Given the description of an element on the screen output the (x, y) to click on. 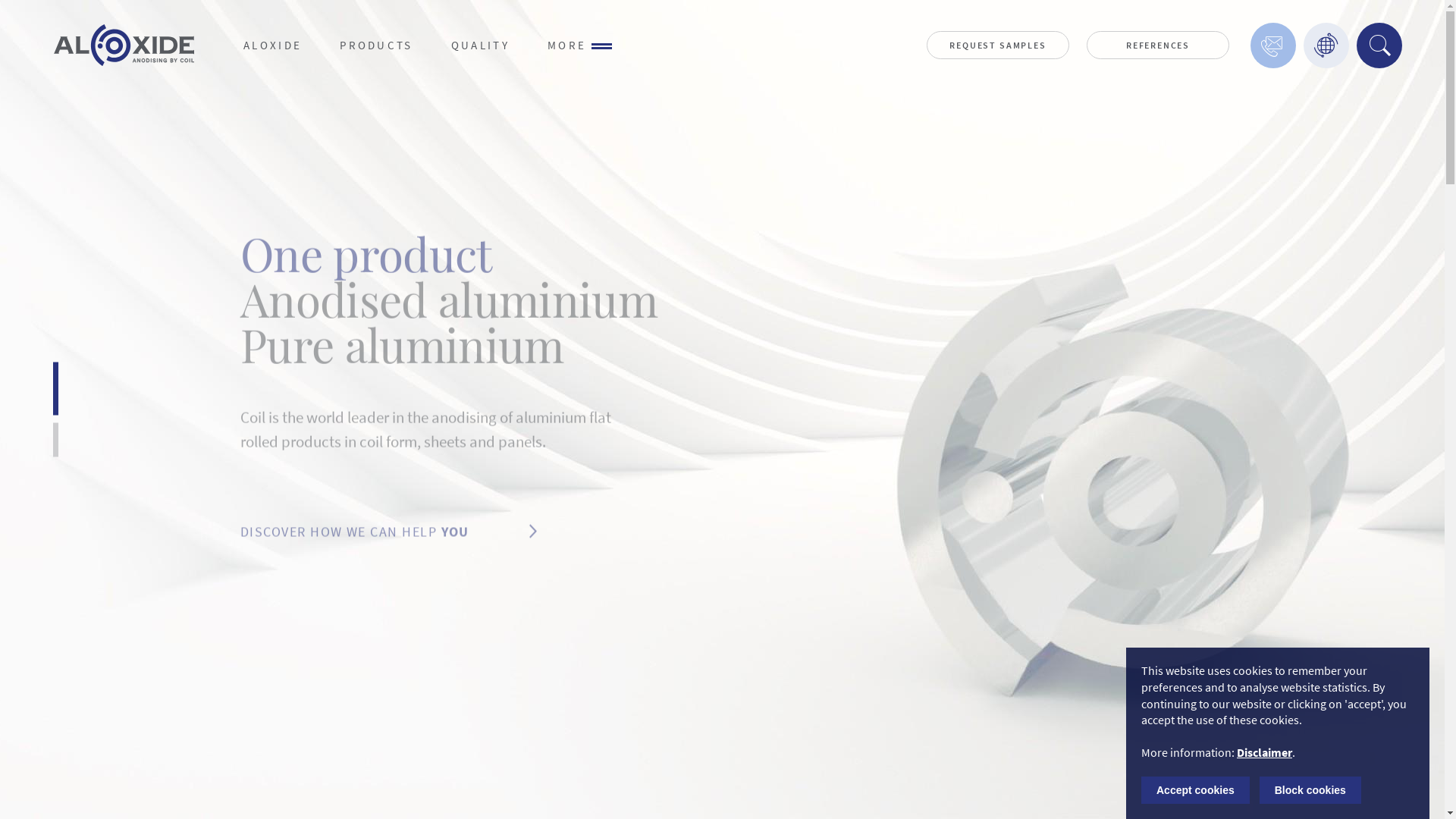
Language Element type: hover (1326, 45)
Search Element type: hover (1379, 45)
CONTINUE Element type: text (421, 552)
Contact us Element type: hover (1272, 45)
www.aloxide.com Element type: text (399, 515)
